Given the description of an element on the screen output the (x, y) to click on. 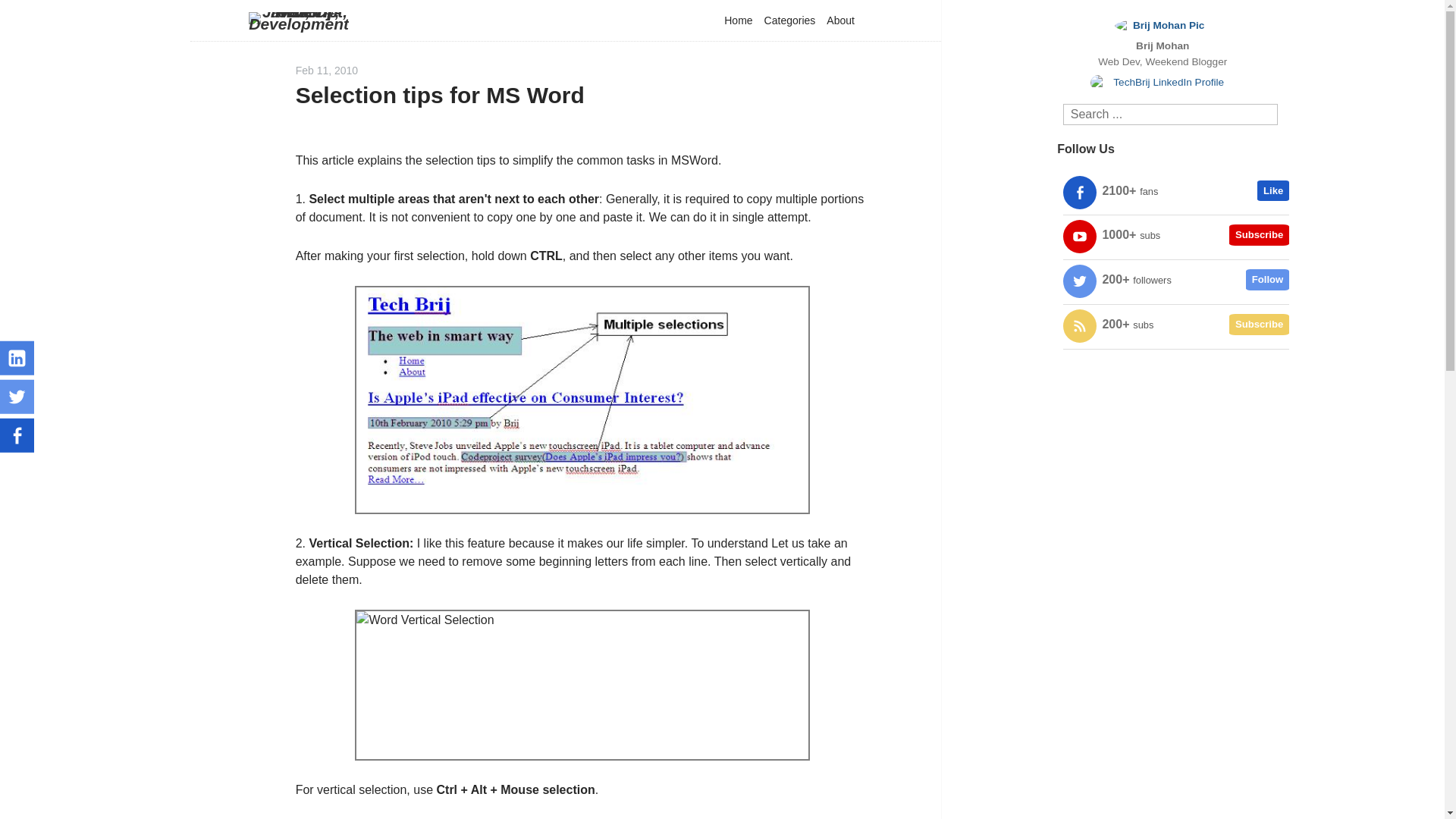
Subscribe (1258, 234)
Categories (789, 20)
Follow (1267, 279)
word-multiple-selection (582, 400)
word-vertical-selection (582, 684)
Subscribe (1258, 323)
Home (738, 20)
Like (1272, 190)
About (840, 20)
TechBrij Categories (789, 20)
